Given the description of an element on the screen output the (x, y) to click on. 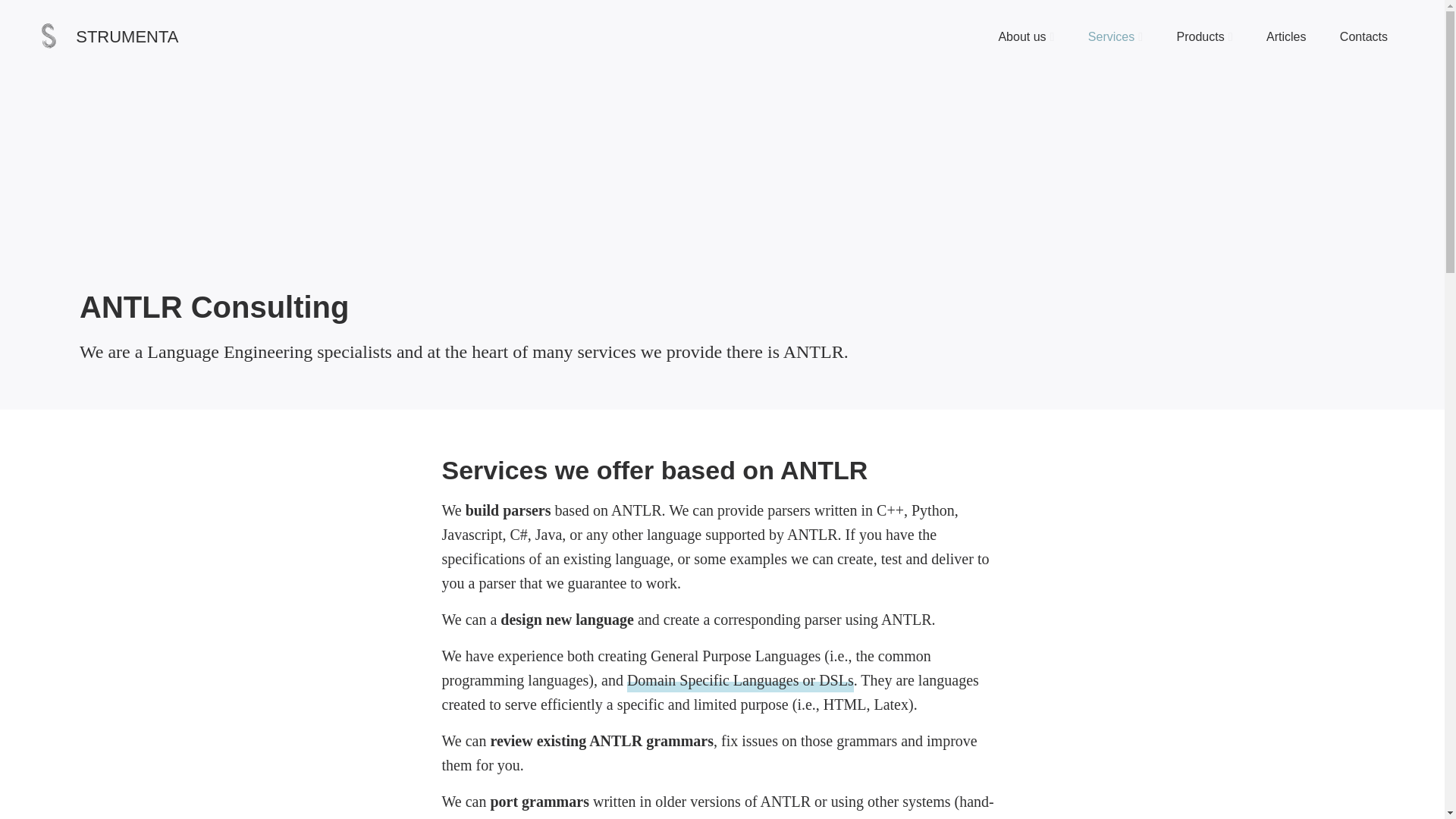
Products (1204, 36)
STRUMENTA (109, 37)
About us (1025, 36)
Services (1115, 36)
Domain Specific Languages or DSLs (740, 680)
Articles (1286, 36)
Contacts (1363, 36)
